Given the description of an element on the screen output the (x, y) to click on. 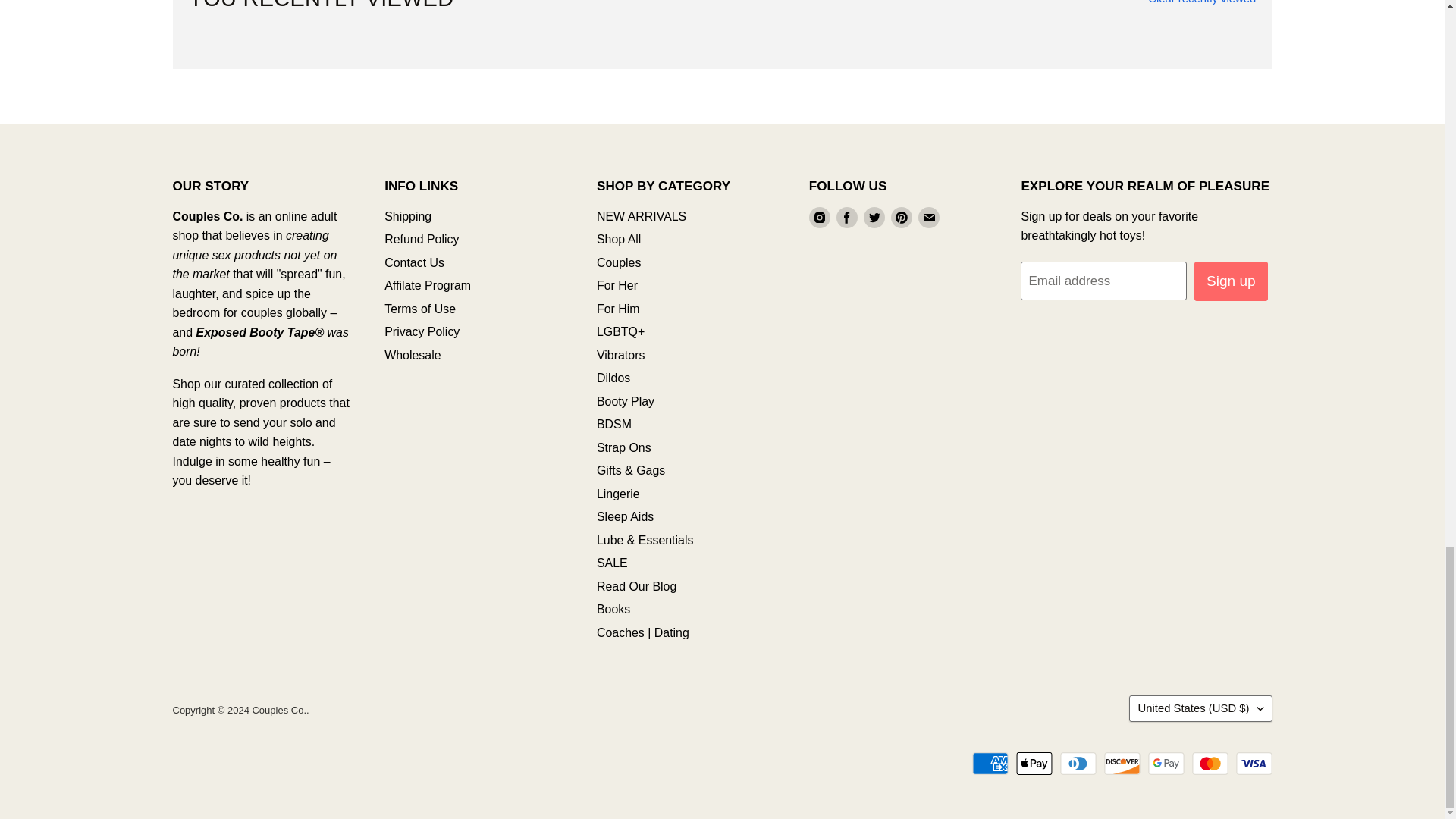
Facebook (846, 217)
Twitter (874, 217)
Email (928, 217)
Pinterest (901, 217)
Instagram (819, 217)
